Given the description of an element on the screen output the (x, y) to click on. 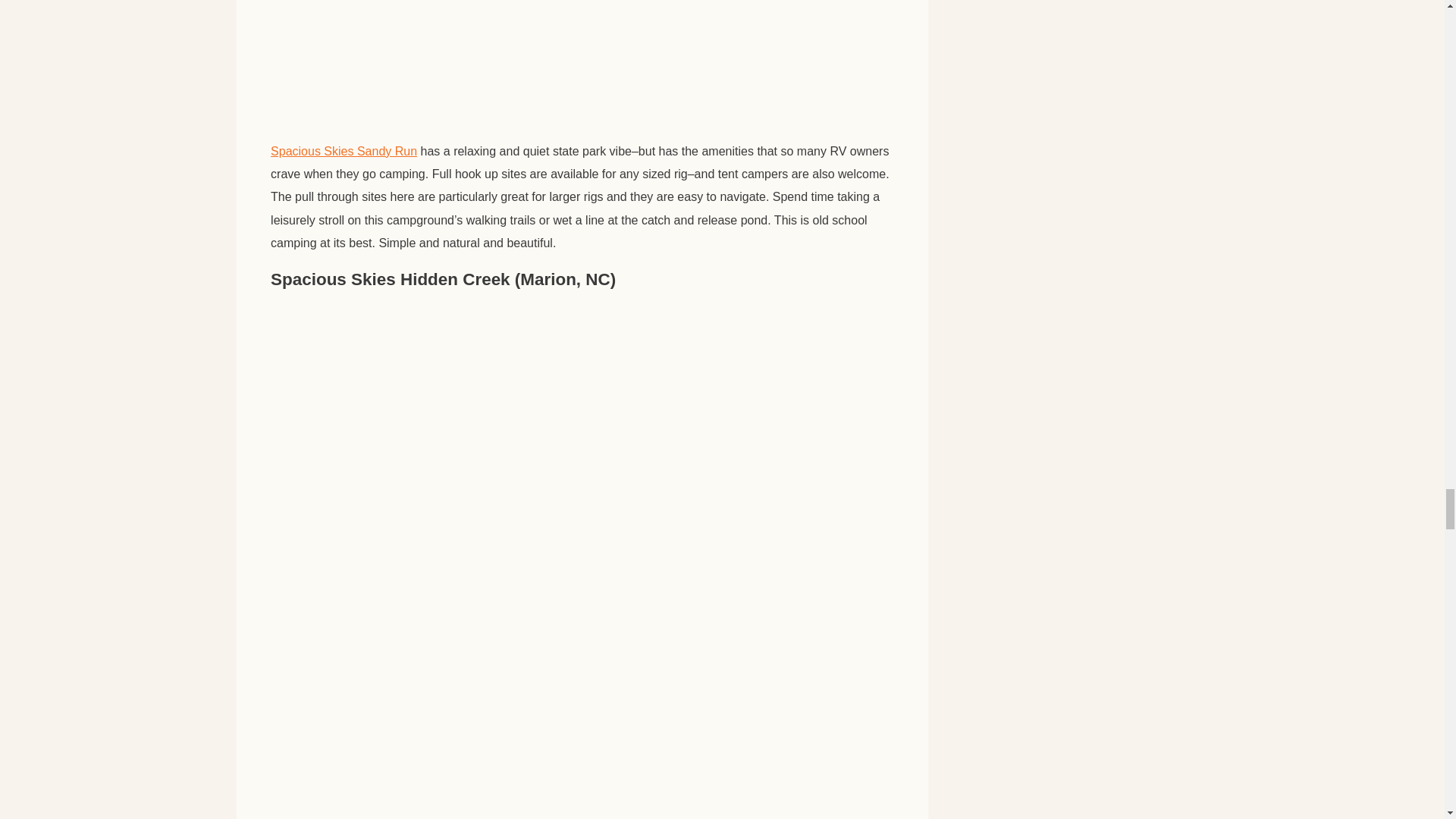
Spacious Skies Sandy Run (343, 151)
